Given the description of an element on the screen output the (x, y) to click on. 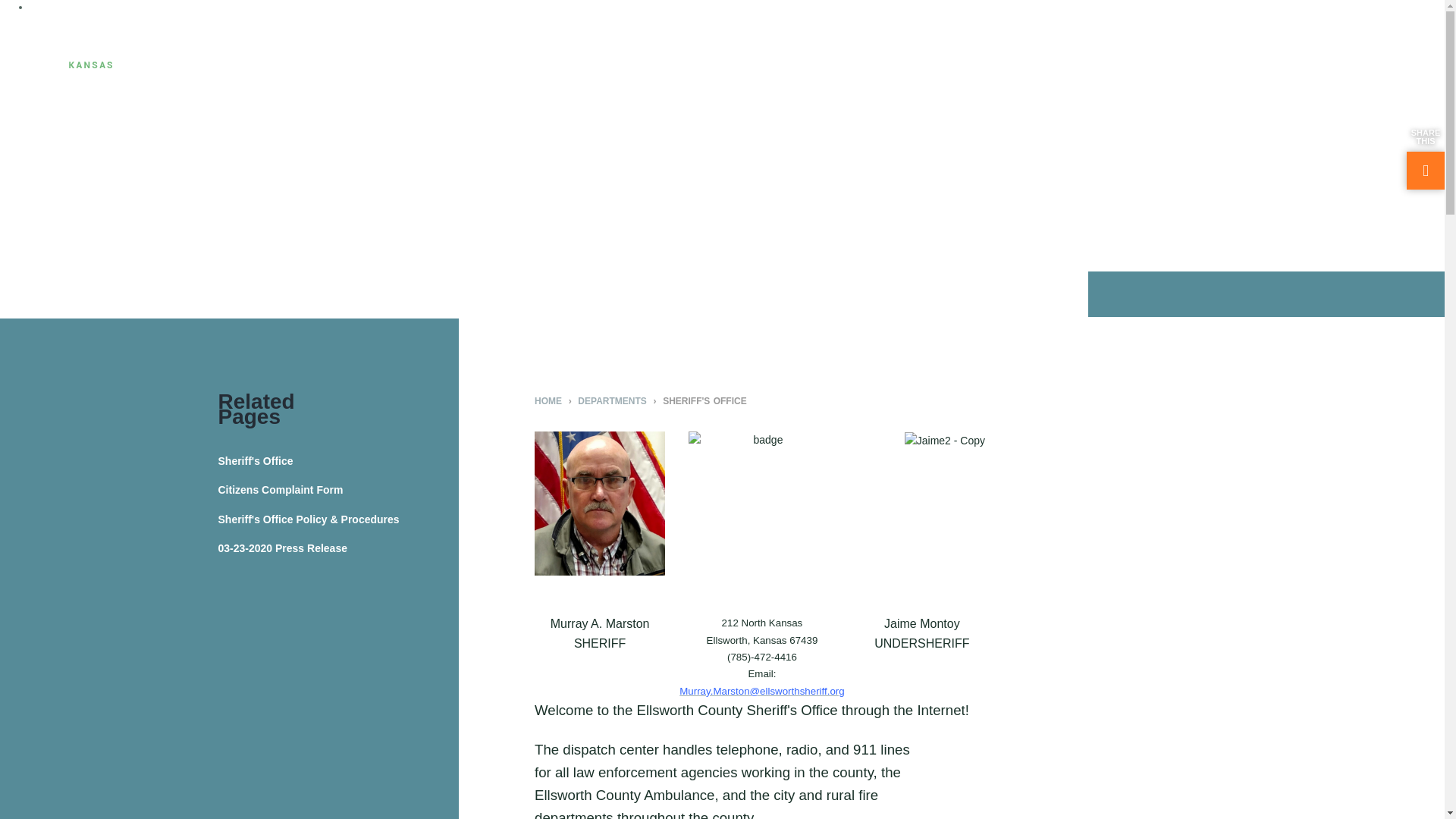
Citizens Complaint Form (339, 489)
RESIDENTS (615, 45)
Sheriff's Office (339, 460)
Jaime2 - Copy (944, 440)
badge (761, 522)
DEPARTMENTS (612, 400)
03-23-2020 Press Release (339, 547)
HOME (548, 400)
Murray2 - Copy (599, 503)
HOME (292, 45)
DEPARTMENTS (505, 45)
GOVERNMENT (385, 45)
